Given the description of an element on the screen output the (x, y) to click on. 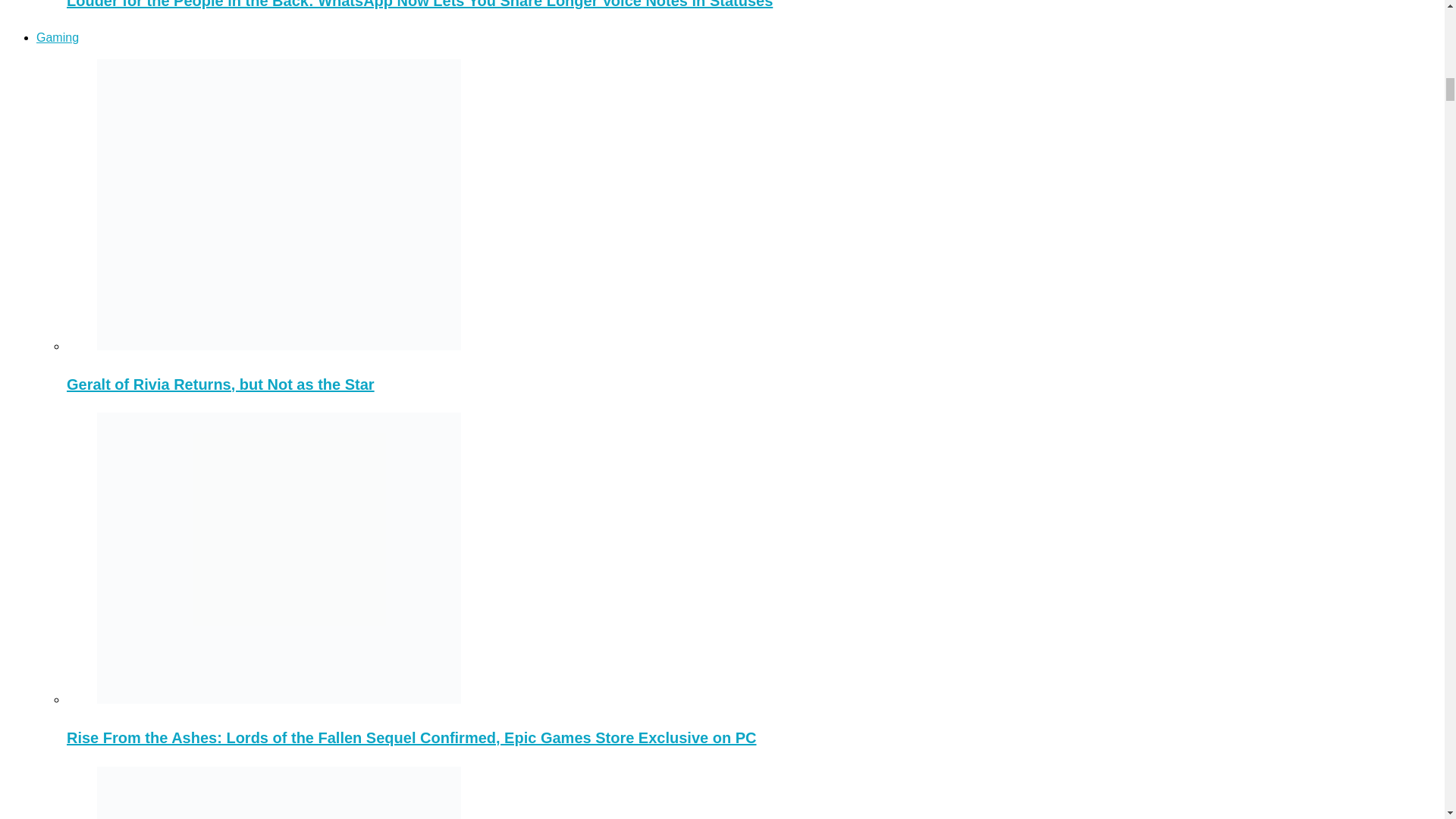
Gaming (57, 37)
Geralt of Rivia Returns, but Not as the Star (220, 384)
